Given the description of an element on the screen output the (x, y) to click on. 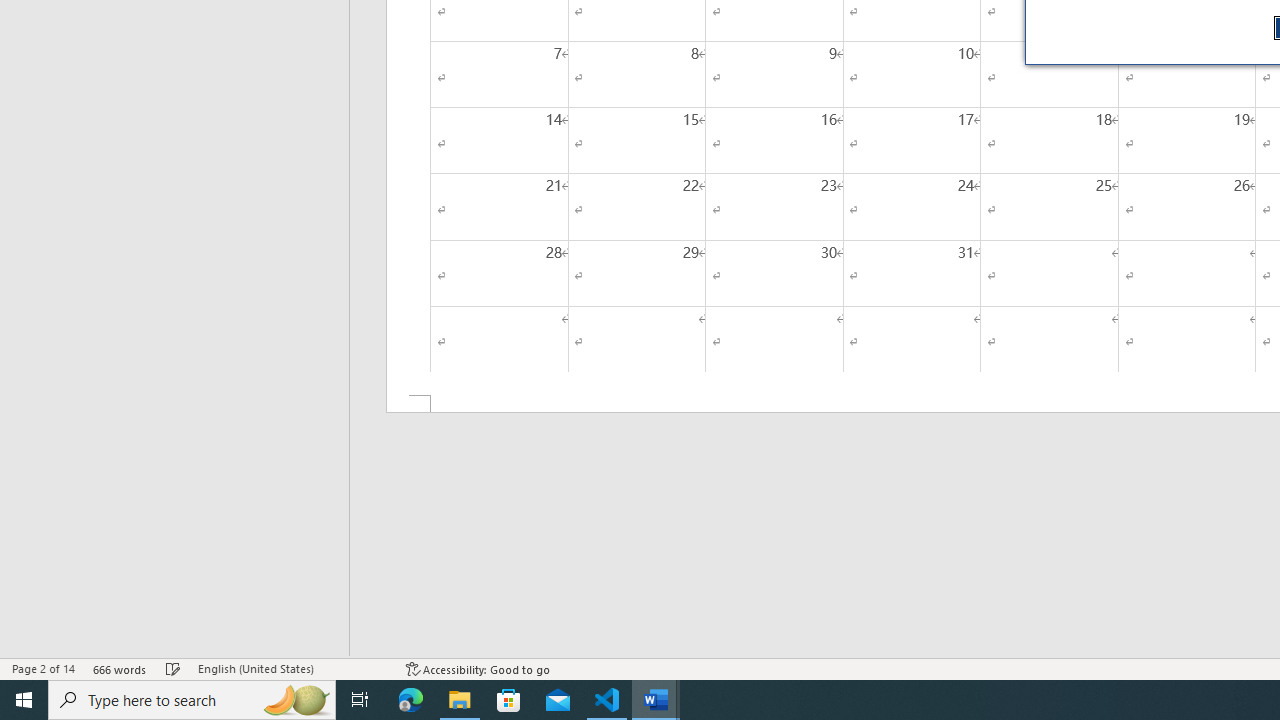
Visual Studio Code - 1 running window (607, 699)
Page Number Page 2 of 14 (43, 668)
Language English (United States) (292, 668)
Start (24, 699)
Microsoft Store (509, 699)
Task View (359, 699)
File Explorer - 1 running window (460, 699)
Microsoft Edge (411, 699)
Word Count 666 words (119, 668)
Search highlights icon opens search home window (295, 699)
Word - 2 running windows (656, 699)
Spelling and Grammar Check Checking (173, 668)
Accessibility Checker Accessibility: Good to go (478, 668)
